Given the description of an element on the screen output the (x, y) to click on. 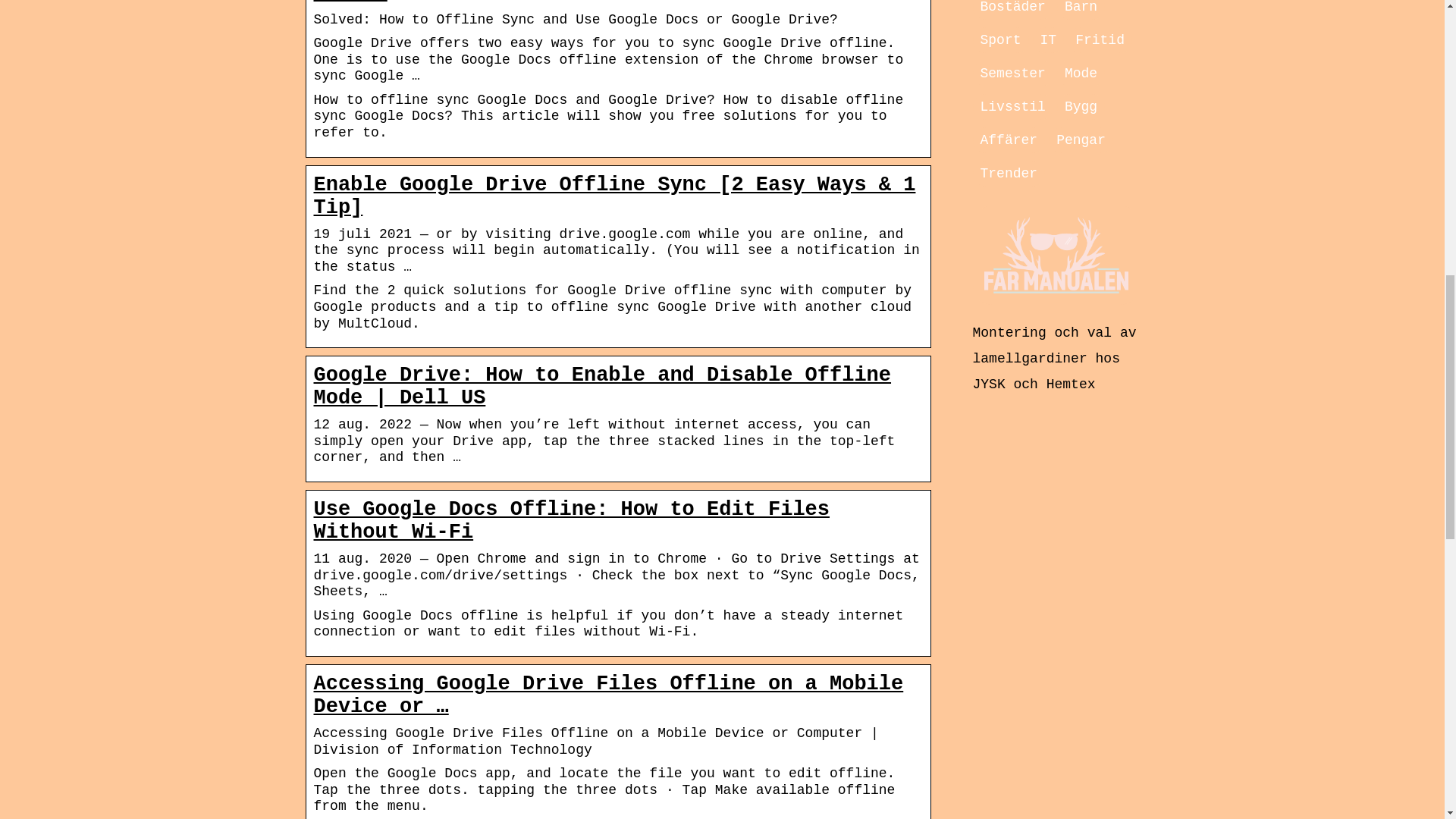
Montering och val av lamellgardiner hos JYSK och Hemtex (1053, 358)
